Given the description of an element on the screen output the (x, y) to click on. 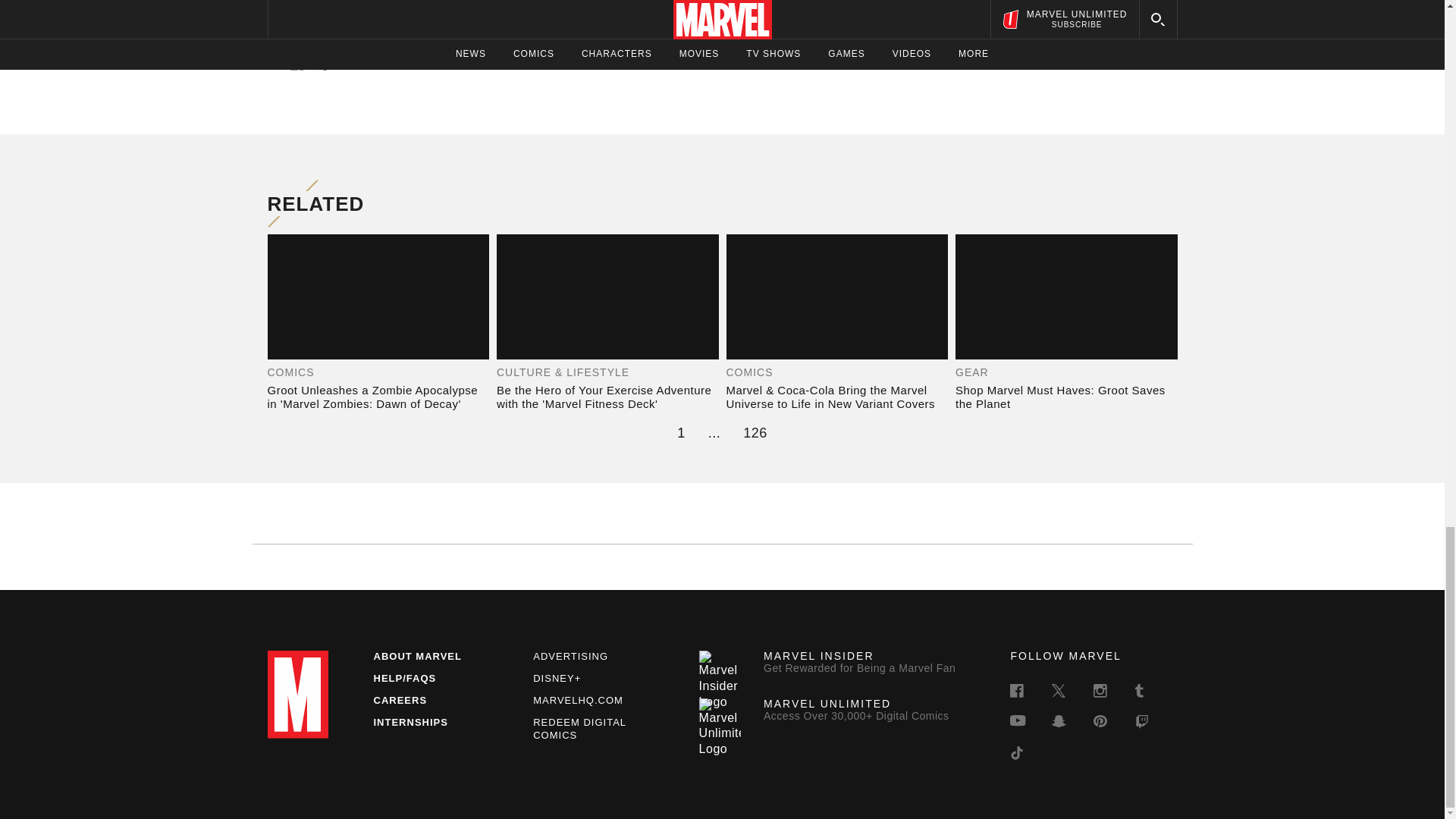
Groot (471, 18)
Gamora (863, 4)
Guardians of the Galaxy (656, 4)
Ronan (508, 18)
Drax (301, 18)
